Given the description of an element on the screen output the (x, y) to click on. 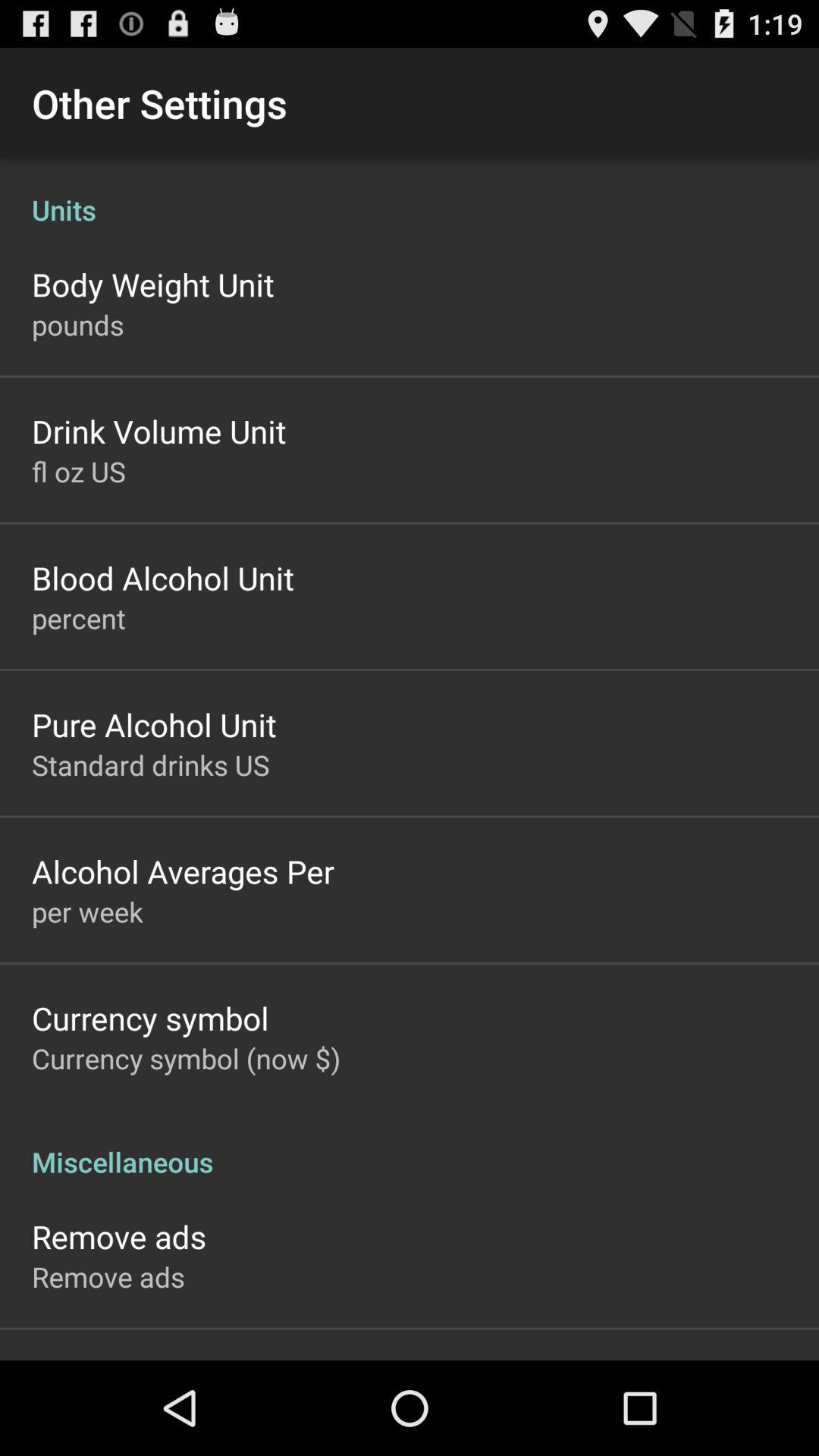
open item above remove ads icon (409, 1145)
